Given the description of an element on the screen output the (x, y) to click on. 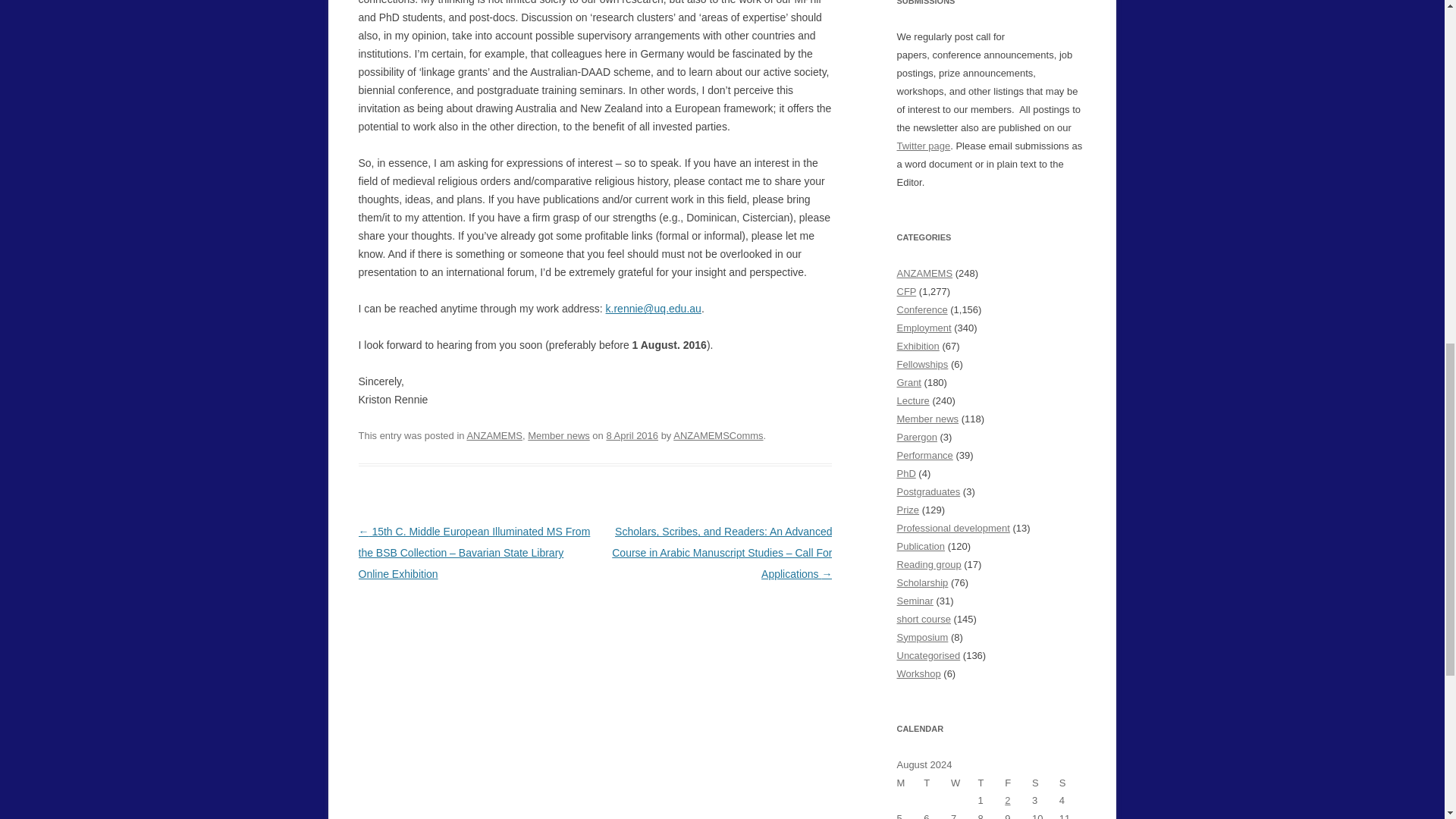
Sunday (1072, 782)
Twitter page (923, 145)
ANZAMEMSComms (717, 435)
ANZAMEMS (493, 435)
Wednesday (964, 782)
Friday (1018, 782)
Monday (909, 782)
Saturday (1045, 782)
Member news (558, 435)
11:00 am (631, 435)
